Given the description of an element on the screen output the (x, y) to click on. 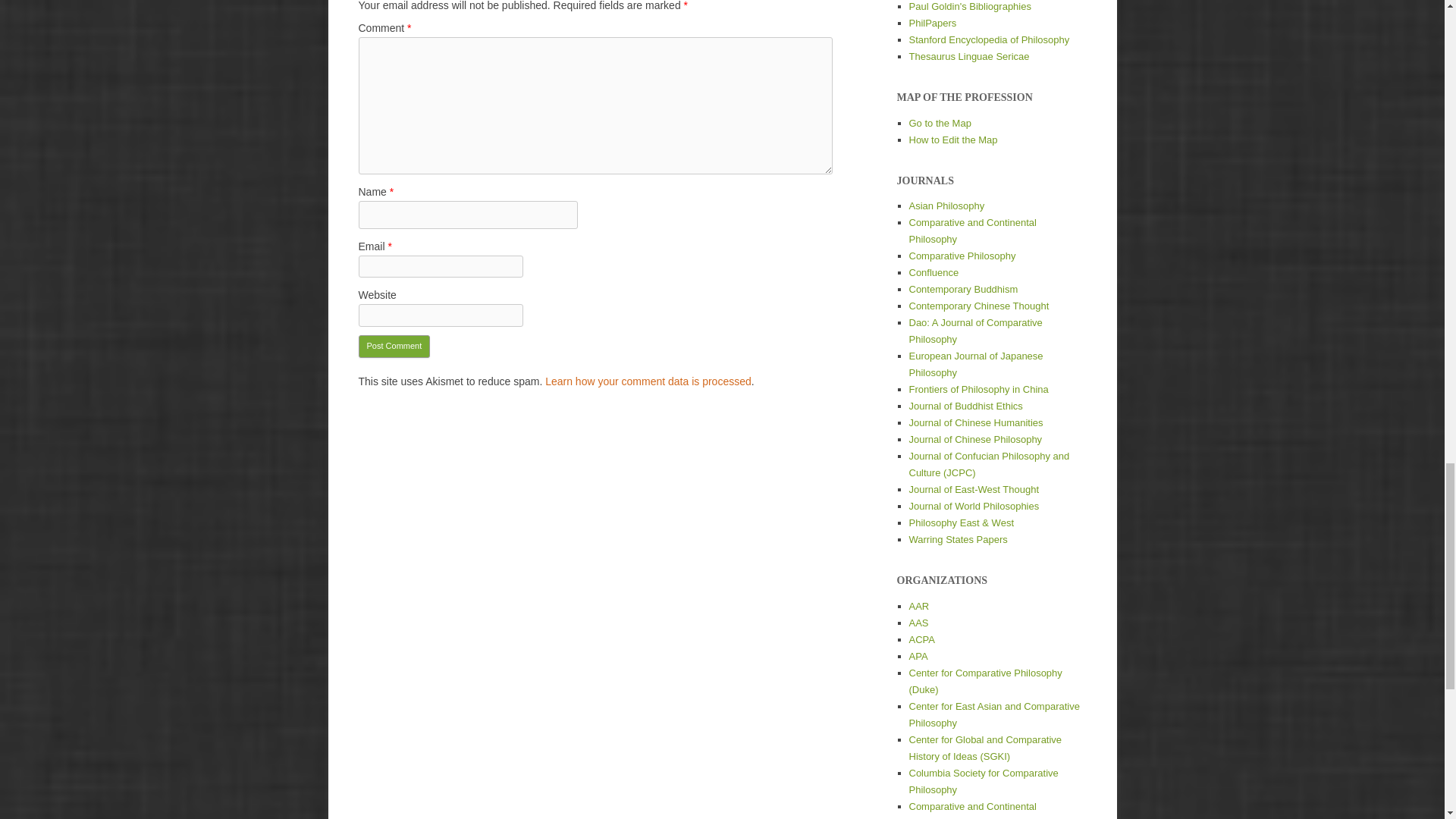
Contemporary Chinese scholarship in English (975, 422)
American Academy of Religion (918, 605)
Post Comment (393, 345)
Learn how your comment data is processed (647, 381)
Post Comment (393, 345)
